Given the description of an element on the screen output the (x, y) to click on. 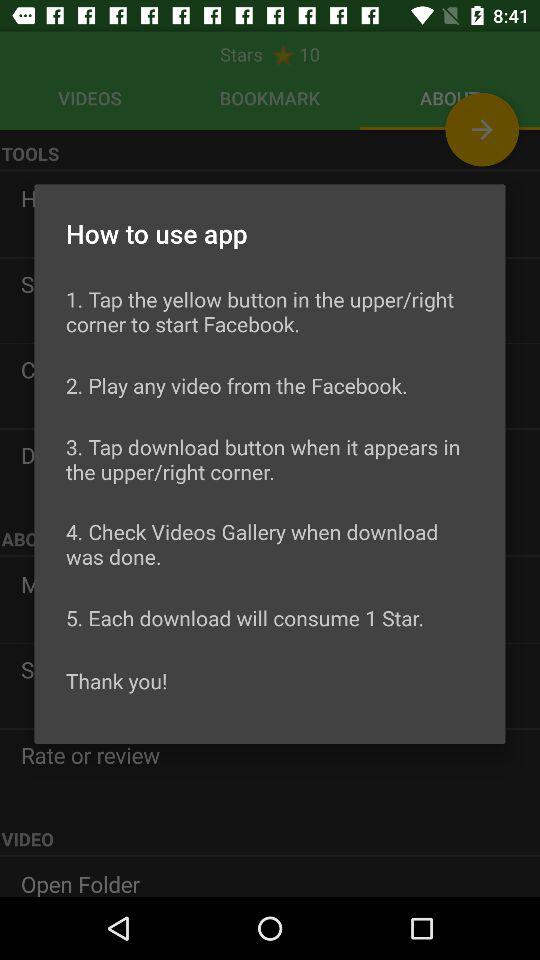
jump to the 5 each download (245, 617)
